Given the description of an element on the screen output the (x, y) to click on. 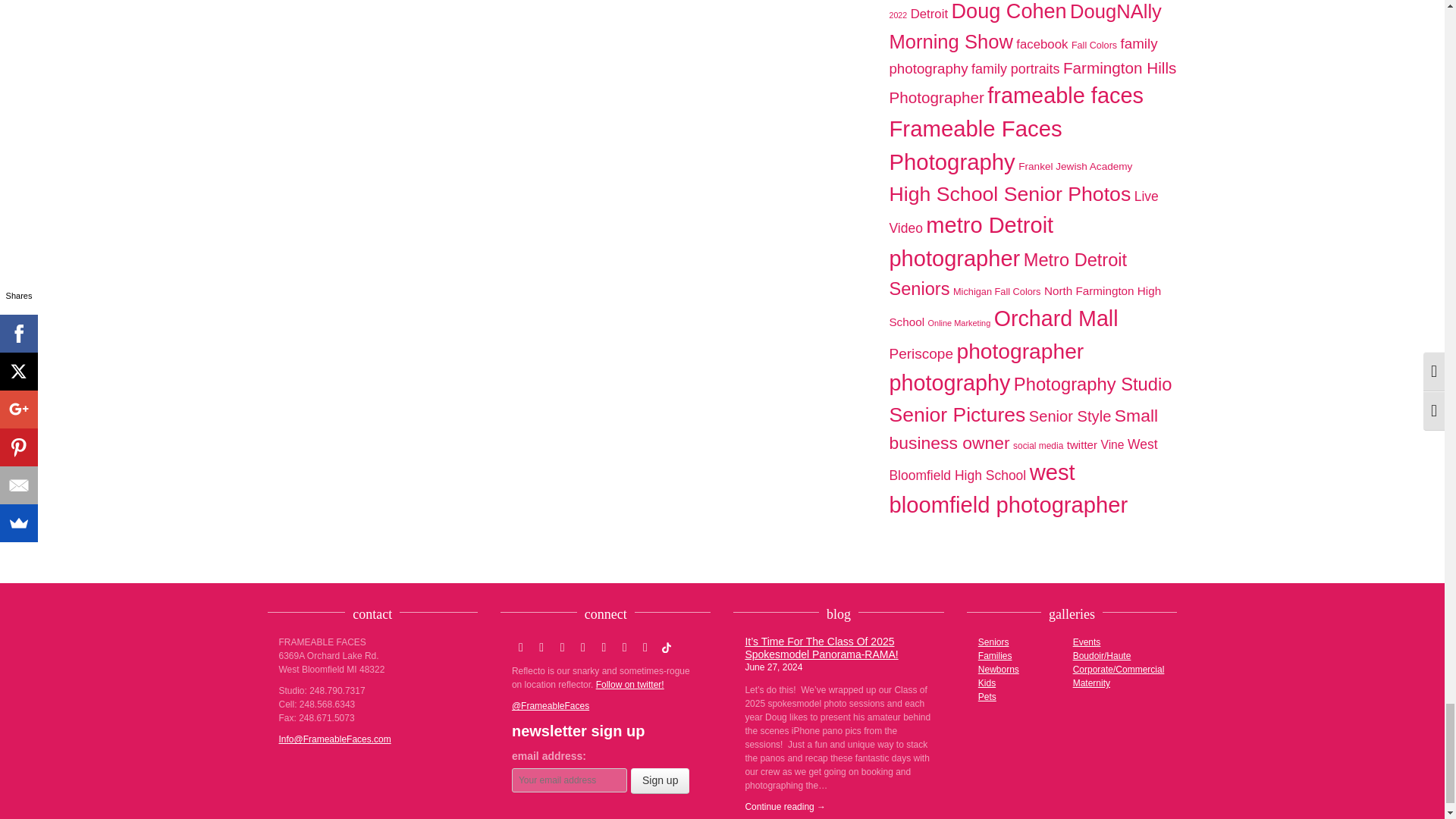
Sign up (659, 780)
